Given the description of an element on the screen output the (x, y) to click on. 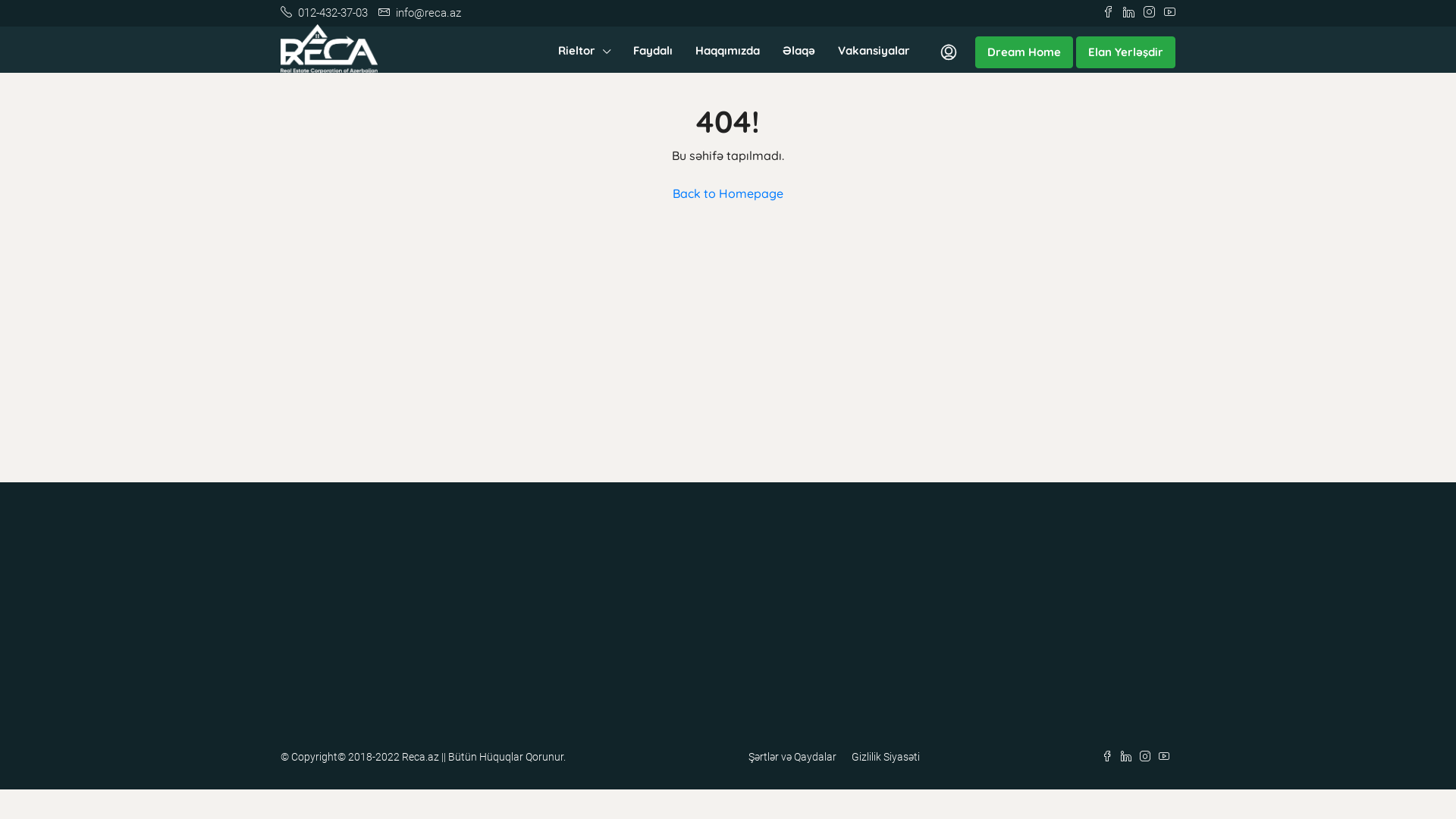
Back to Homepage Element type: text (727, 193)
Rieltor Element type: text (583, 51)
LiveInternet: number of visitors and pageviews is shown Element type: hover (313, 603)
Dream Home Element type: text (1024, 52)
012-432-37-03 Element type: text (323, 12)
info@reca.az Element type: text (419, 12)
Vakansiyalar Element type: text (873, 50)
